Given the description of an element on the screen output the (x, y) to click on. 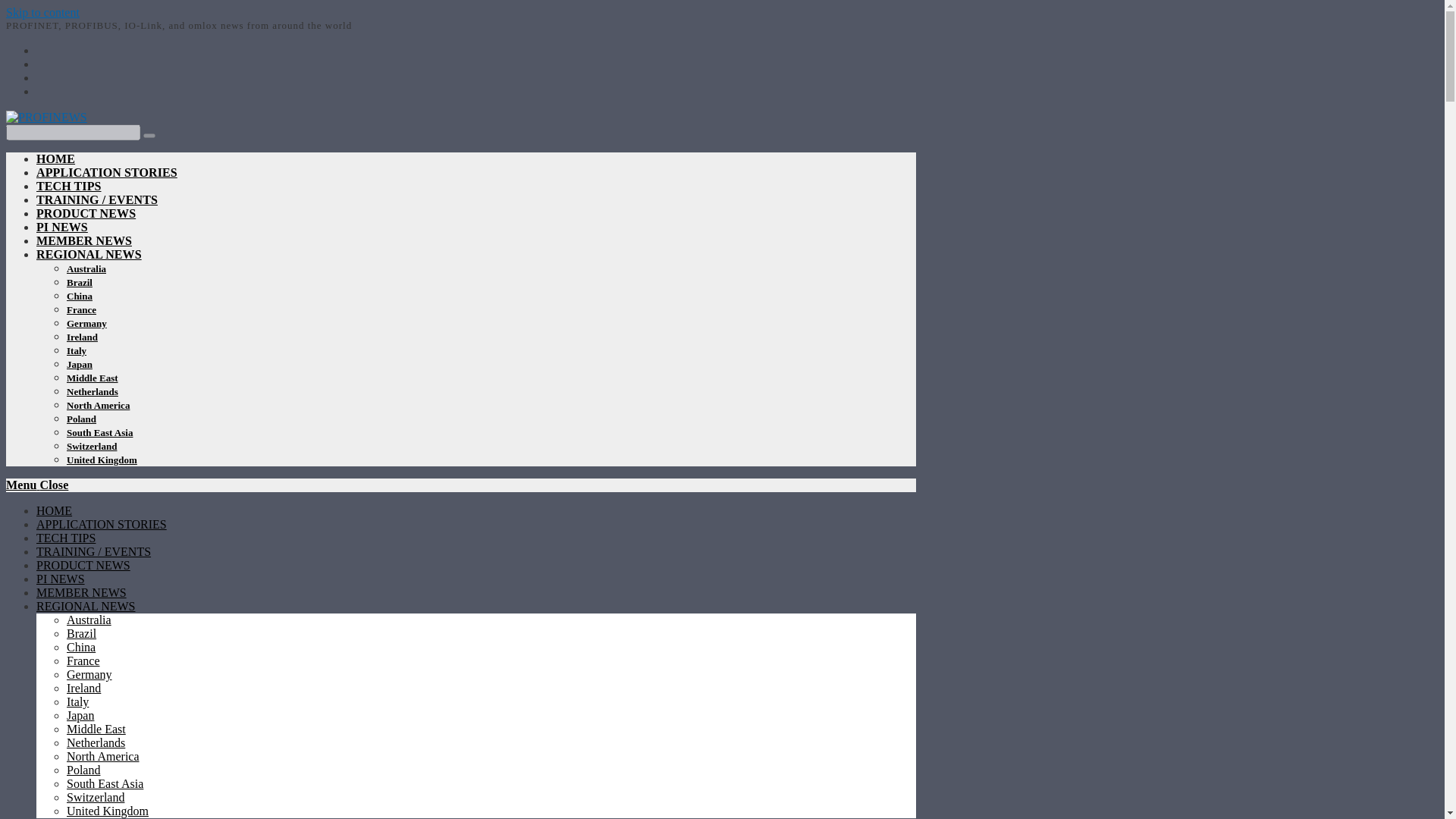
REGIONAL NEWS (88, 254)
Brazil (79, 282)
PRODUCT NEWS (85, 213)
HOME (55, 158)
Skip to content (42, 11)
PI NEWS (60, 578)
Ireland (81, 337)
Japan (79, 364)
MEMBER NEWS (84, 240)
APPLICATION STORIES (106, 172)
South East Asia (99, 432)
Middle East (91, 378)
Poland (81, 419)
APPLICATION STORIES (101, 523)
North America (97, 405)
